Given the description of an element on the screen output the (x, y) to click on. 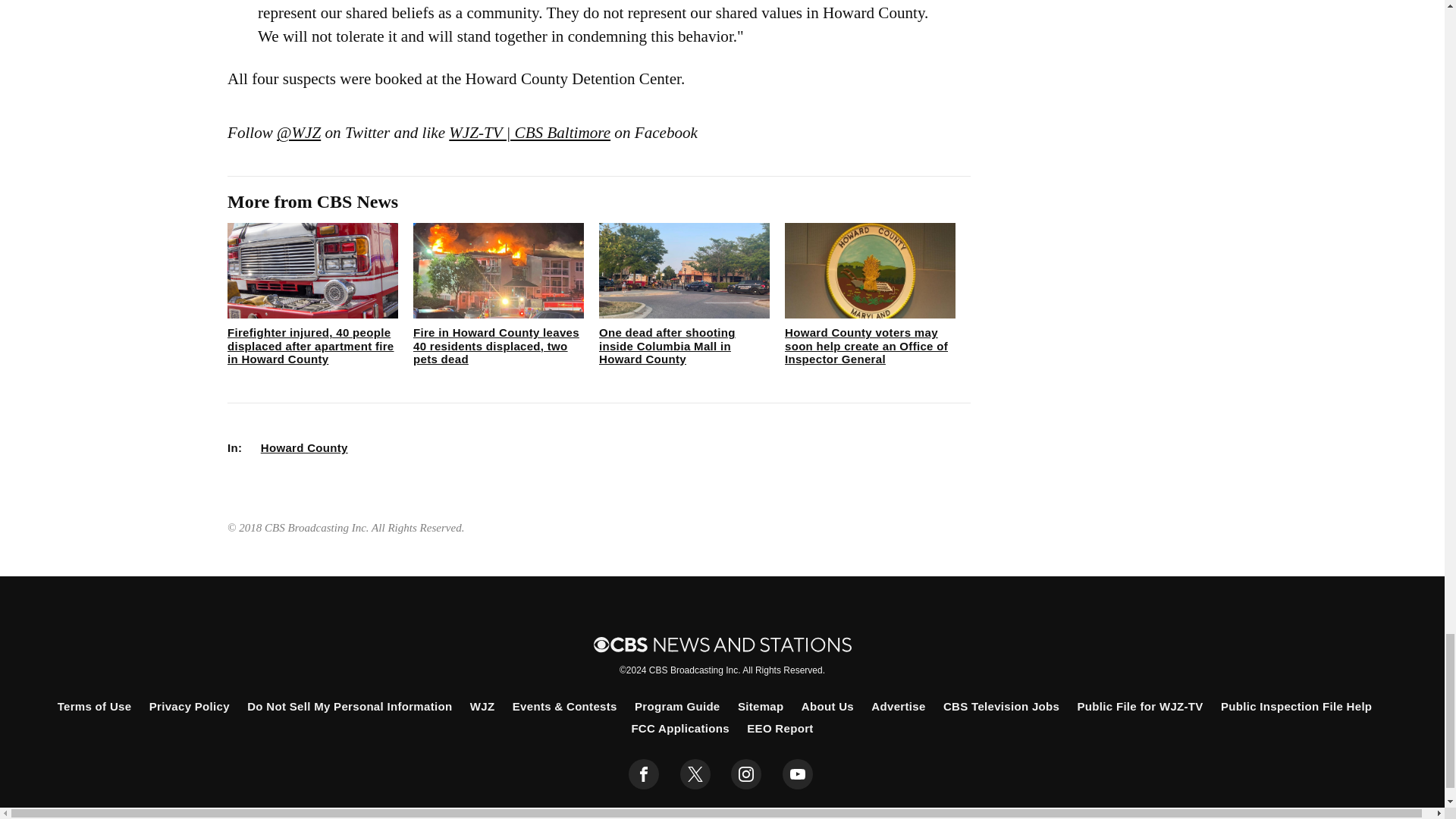
twitter (694, 774)
facebook (643, 774)
instagram (745, 774)
youtube (797, 774)
